Given the description of an element on the screen output the (x, y) to click on. 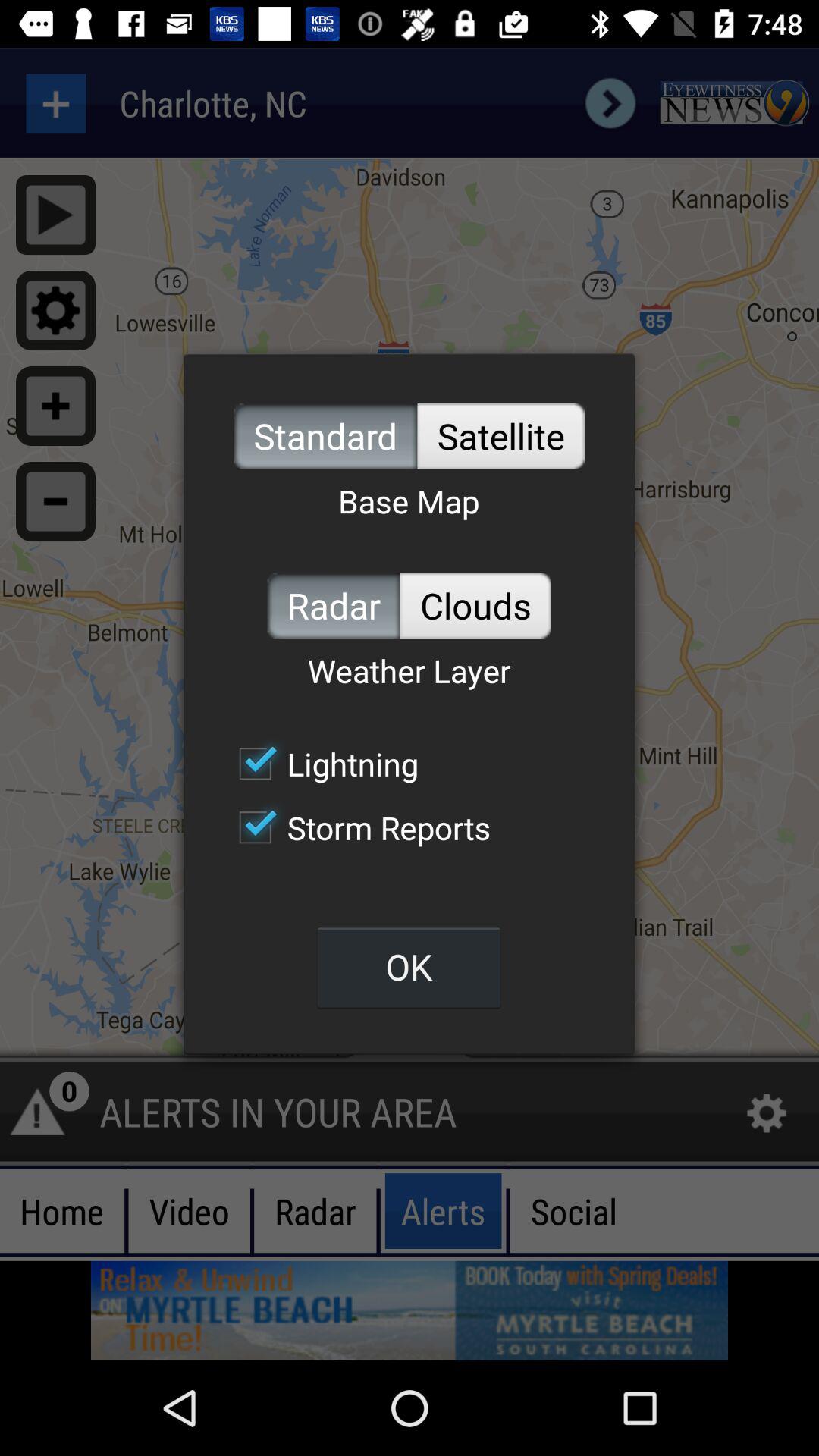
choose satellite (500, 436)
